Given the description of an element on the screen output the (x, y) to click on. 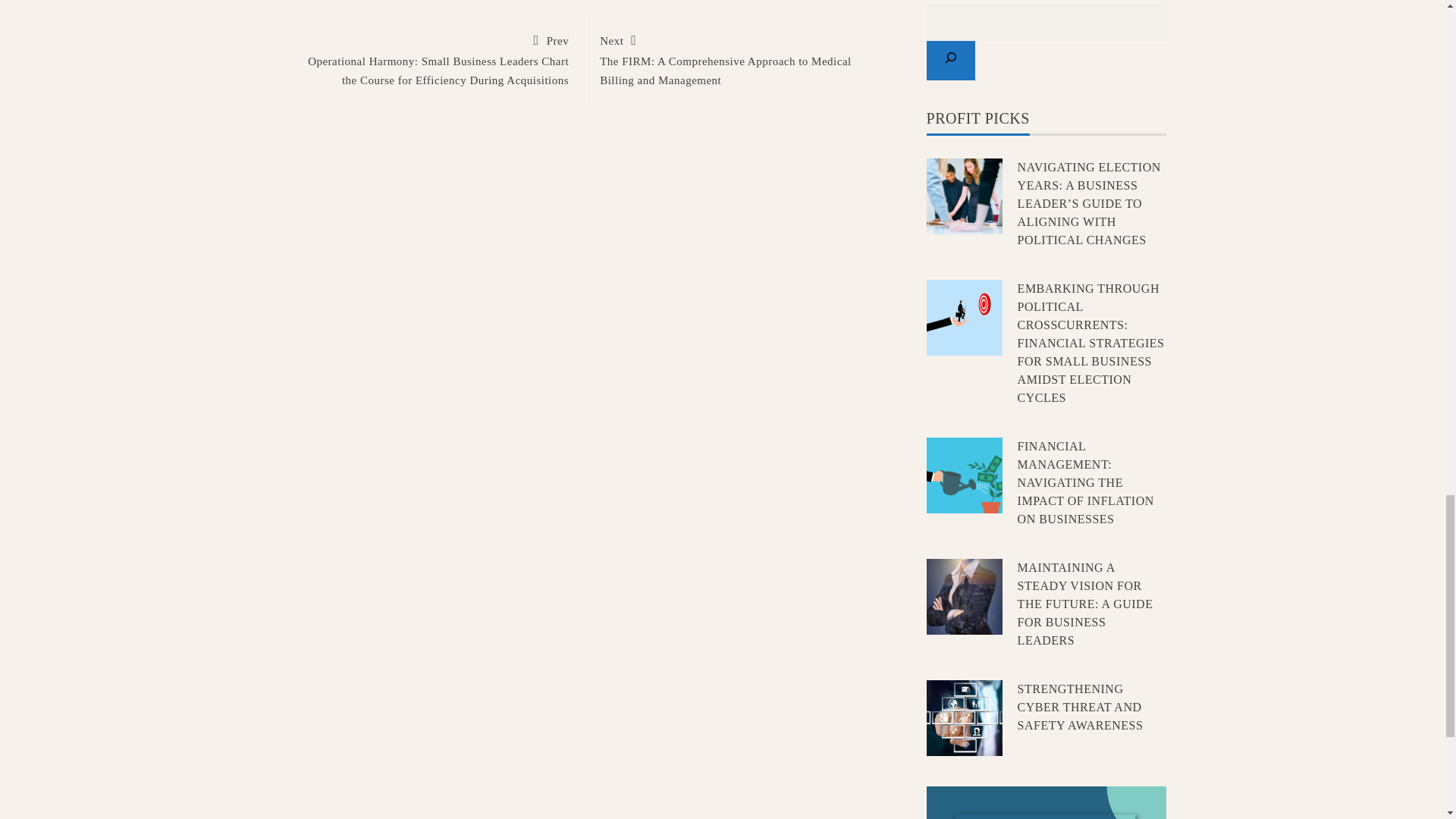
STRENGTHENING CYBER THREAT AND SAFETY AWARENESS (1079, 707)
